Given the description of an element on the screen output the (x, y) to click on. 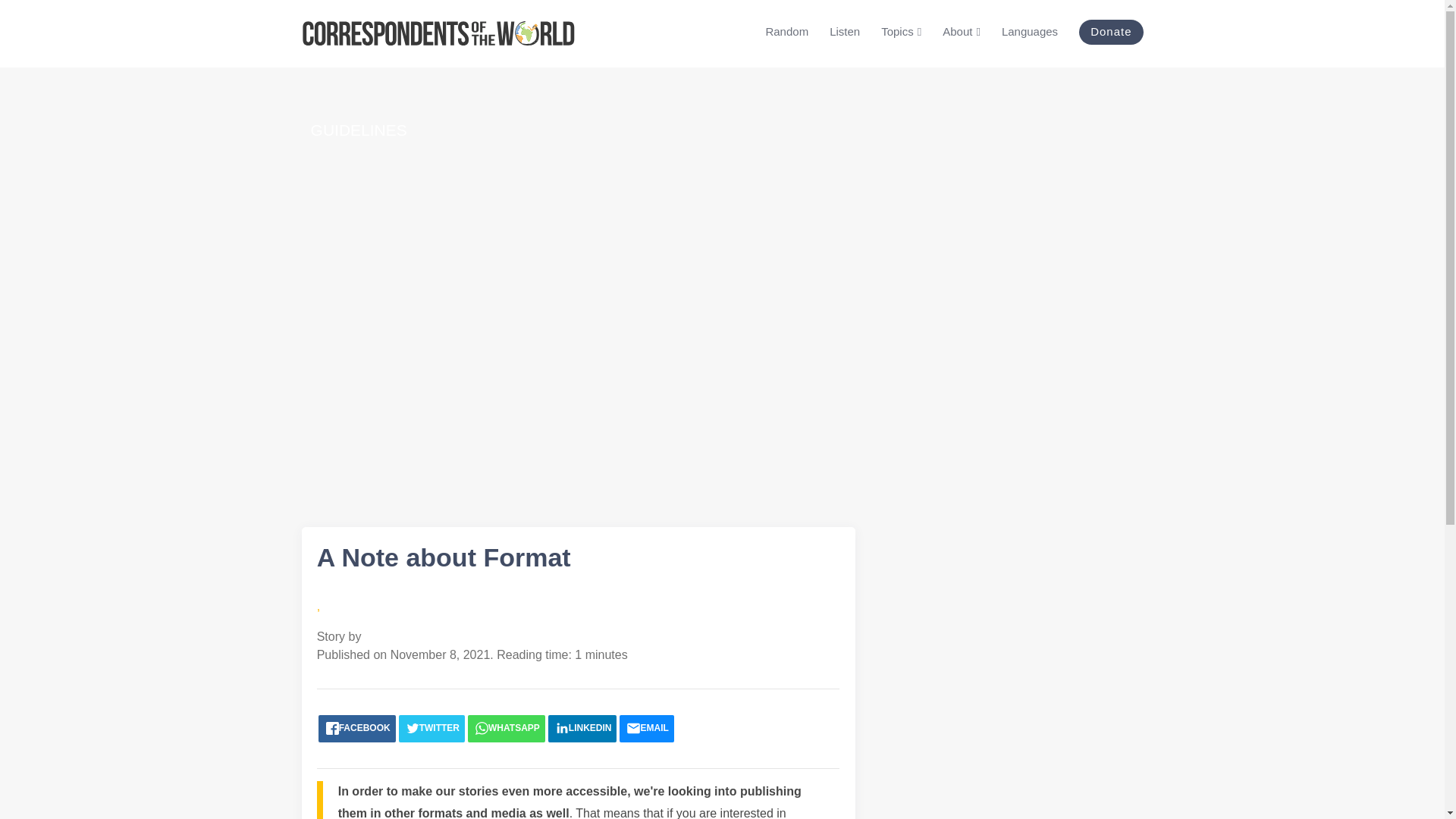
About (960, 31)
Topics (900, 31)
LINKEDIN (582, 728)
EMAIL (646, 728)
GUIDELINES (358, 130)
Random (786, 31)
FACEBOOK (357, 728)
Languages (1029, 31)
TWITTER (431, 728)
WHATSAPP (505, 728)
Listen (844, 31)
Donate (1110, 32)
